Given the description of an element on the screen output the (x, y) to click on. 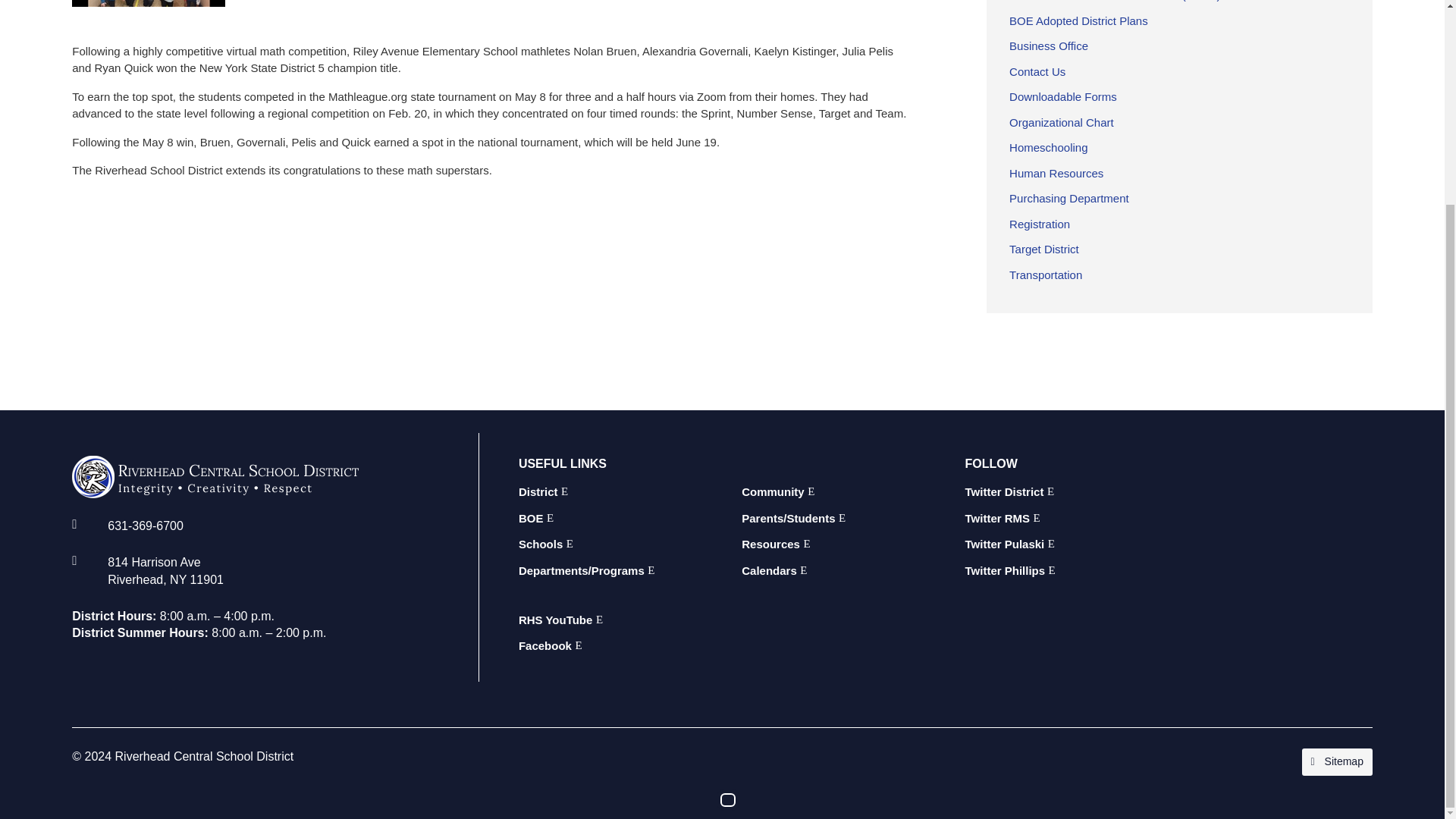
Accessibility Menu (727, 537)
